Given the description of an element on the screen output the (x, y) to click on. 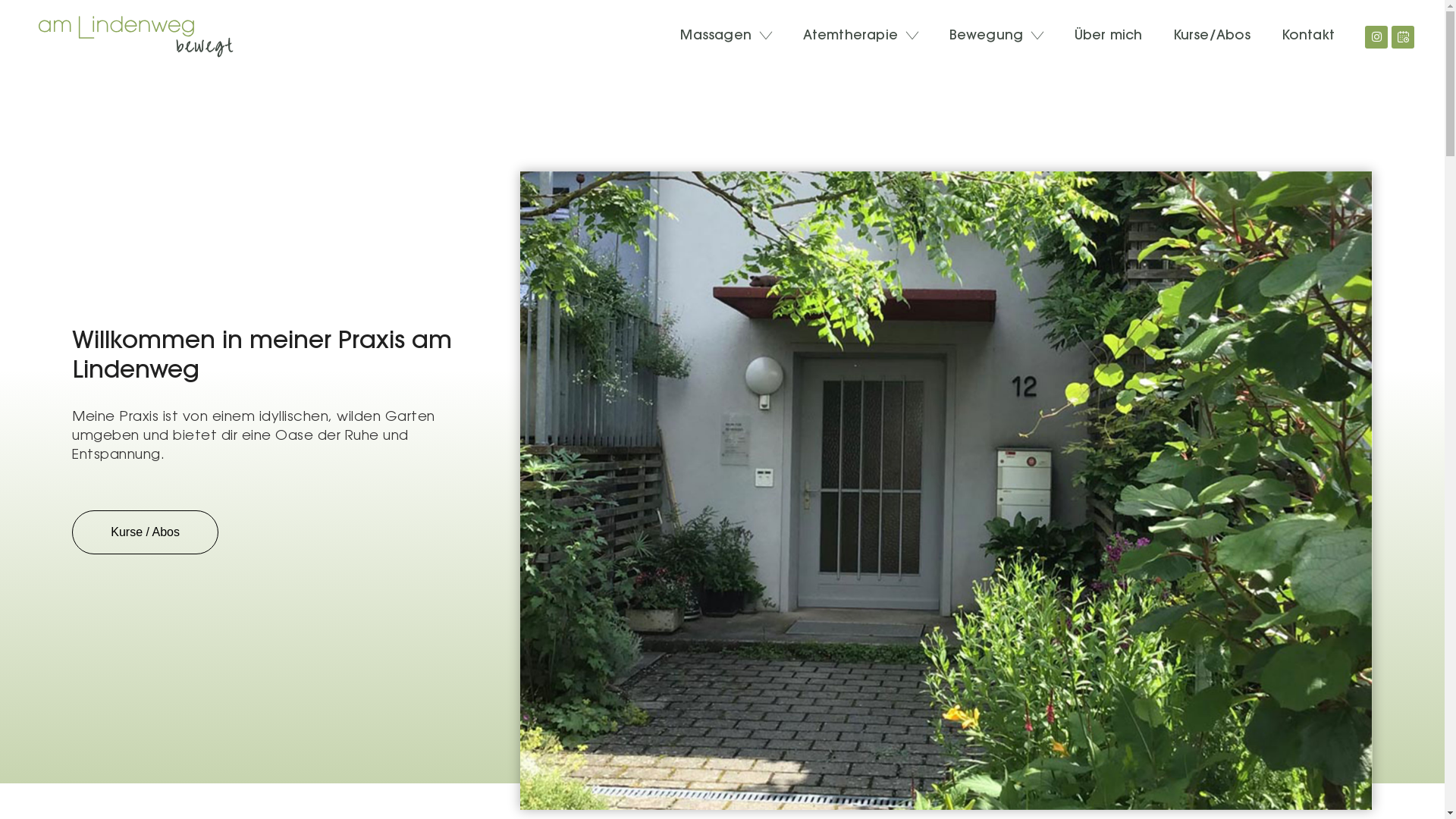
logo-am-lindenweg Element type: hover (136, 36)
Kontakt Element type: text (1307, 36)
Kurse/Abos Element type: text (1211, 36)
Atemtherapie Element type: text (860, 36)
Bewegung Element type: text (996, 36)
Instagram Element type: text (1376, 36)
Kurse / Abos Element type: text (145, 532)
Massagen Element type: text (726, 36)
